Given the description of an element on the screen output the (x, y) to click on. 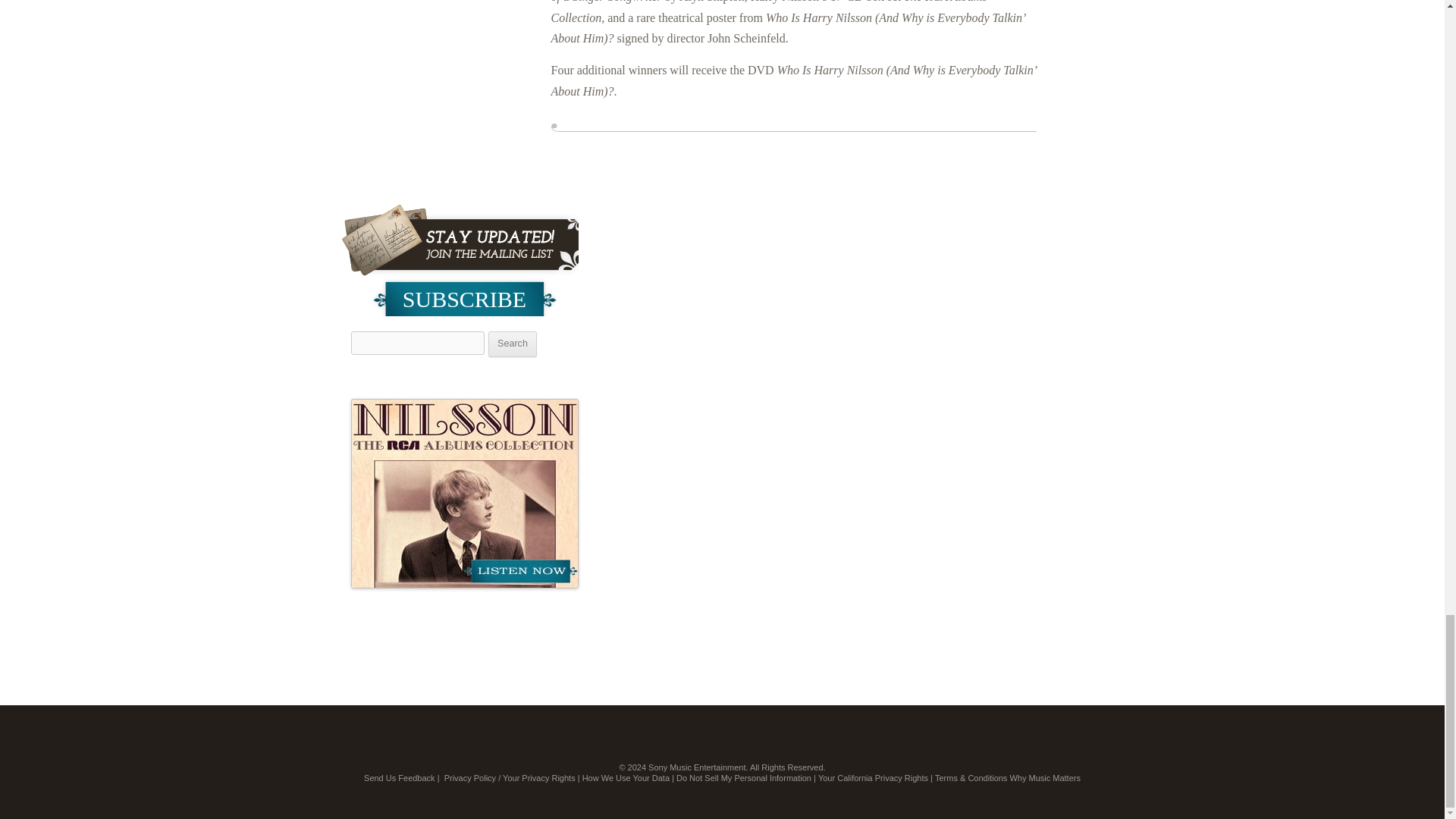
Sony Music Entertainment (696, 767)
Your California Privacy Rights (873, 777)
SUBSCRIBE (464, 296)
Why Music Matters (1044, 777)
How We Use Your Data (625, 777)
Stay Updated! (459, 239)
Search (512, 344)
Do Not Sell My Personal Information (743, 777)
Search (512, 344)
Send Us Feedback (399, 777)
